Given the description of an element on the screen output the (x, y) to click on. 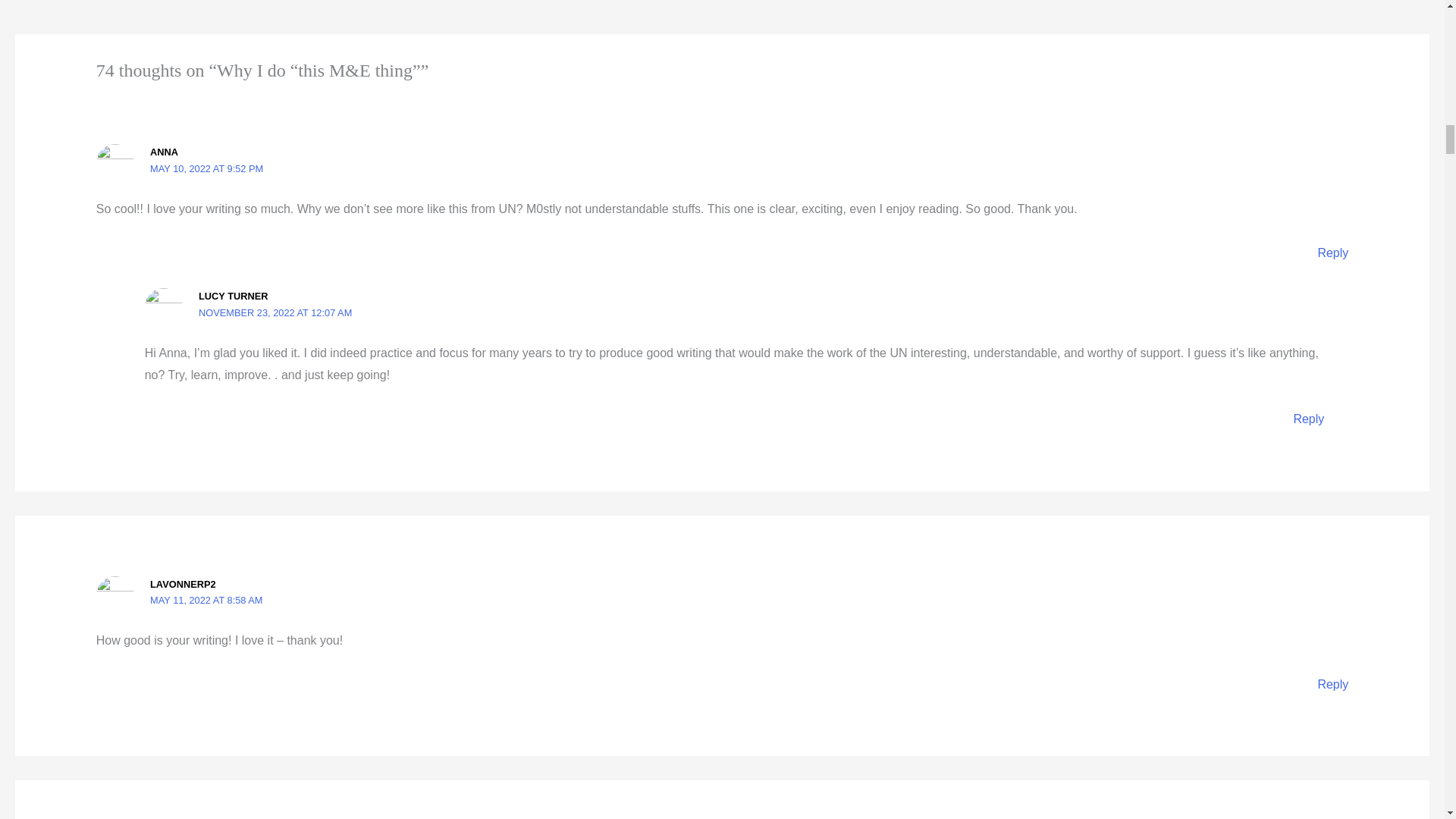
Reply (1332, 684)
Reply (1332, 252)
MAY 10, 2022 AT 9:52 PM (206, 168)
MAY 11, 2022 AT 8:58 AM (205, 600)
NOVEMBER 23, 2022 AT 12:07 AM (275, 312)
Reply (1307, 418)
